Given the description of an element on the screen output the (x, y) to click on. 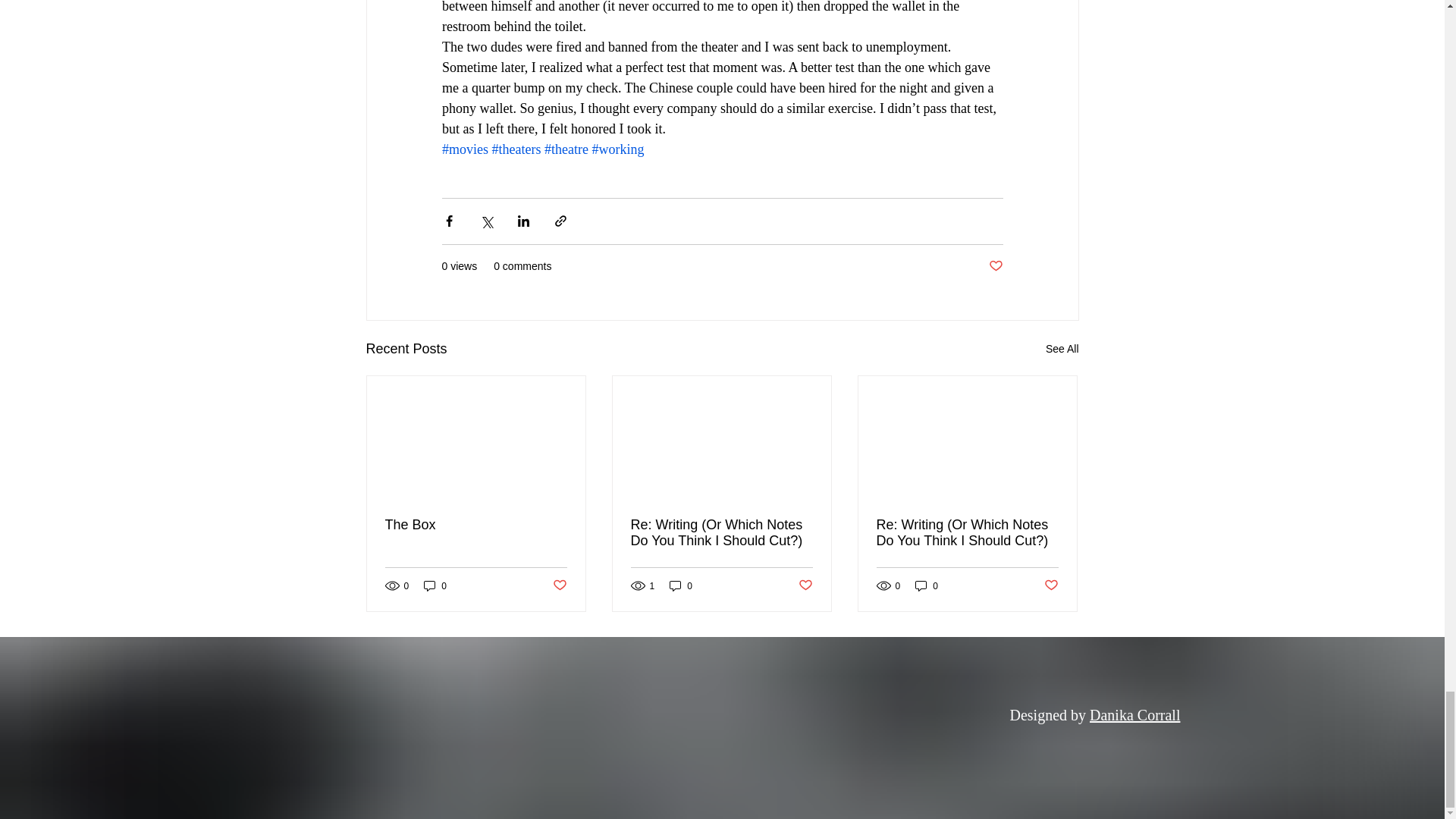
Post not marked as liked (1050, 585)
0 (926, 585)
Post not marked as liked (558, 585)
The Box (476, 524)
Danika Corrall (1134, 714)
Post not marked as liked (804, 585)
See All (1061, 349)
0 (681, 585)
0 (435, 585)
Post not marked as liked (995, 266)
